Given the description of an element on the screen output the (x, y) to click on. 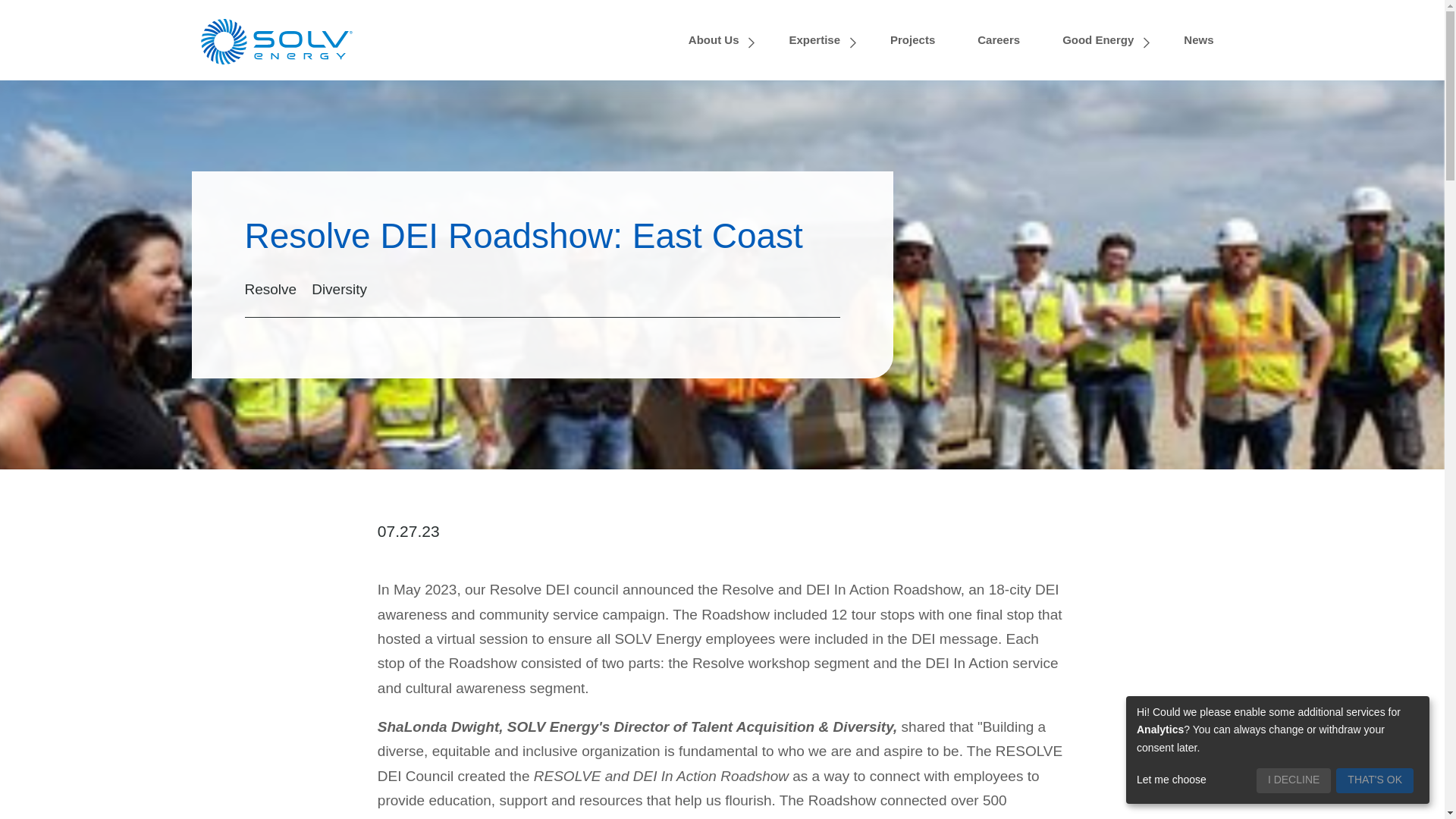
Projects (921, 40)
Careers (1007, 40)
Expertise (826, 40)
Good Energy (1110, 40)
News (1207, 40)
About Us (727, 40)
